Given the description of an element on the screen output the (x, y) to click on. 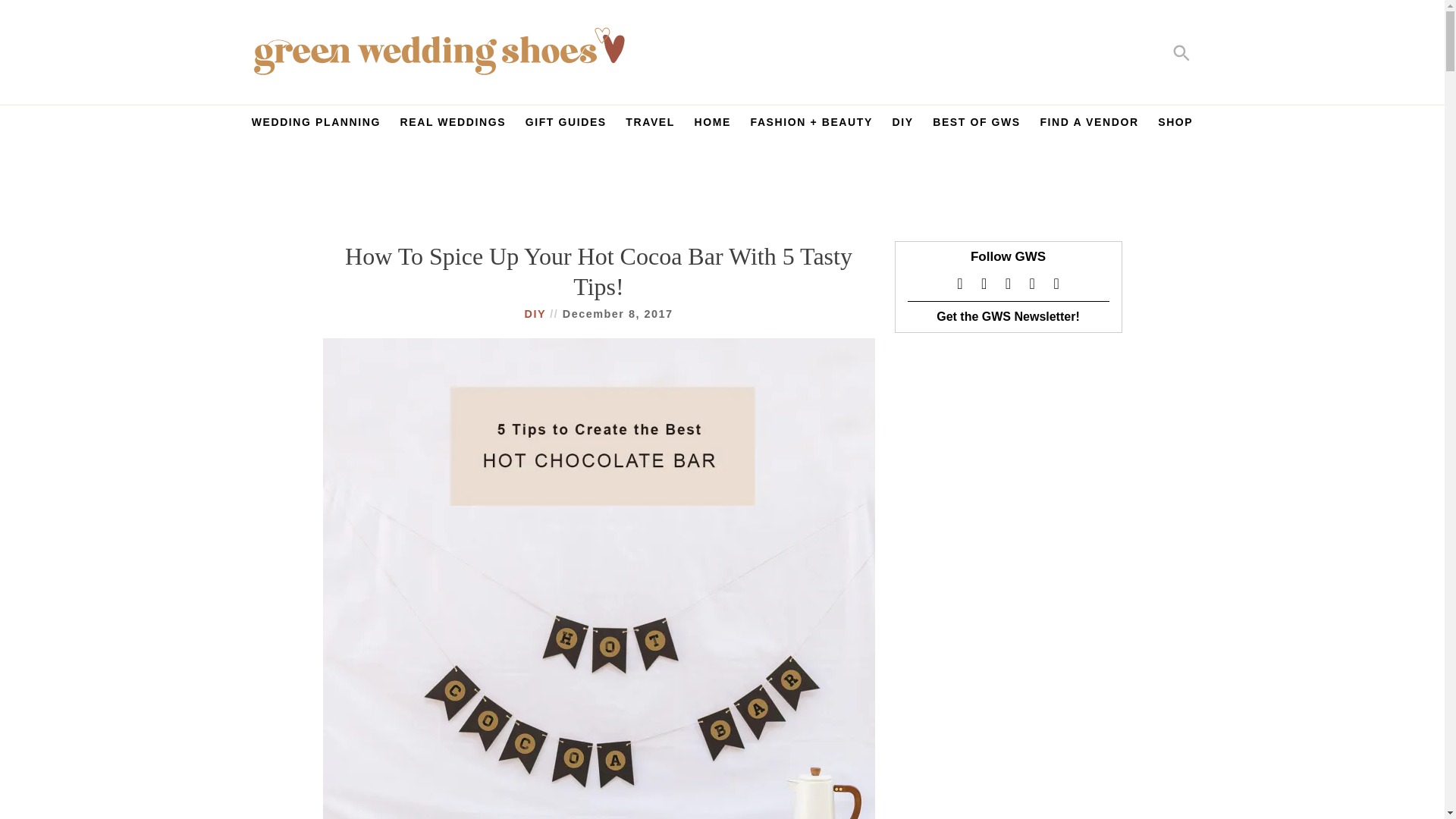
DIY (902, 125)
FIND A VENDOR (1088, 125)
REAL WEDDINGS (452, 125)
TRAVEL (650, 125)
GIFT GUIDES (565, 125)
BEST OF GWS (976, 125)
DIY (537, 313)
WEDDING PLANNING (315, 125)
SHOP (1175, 125)
HOME (712, 125)
